Given the description of an element on the screen output the (x, y) to click on. 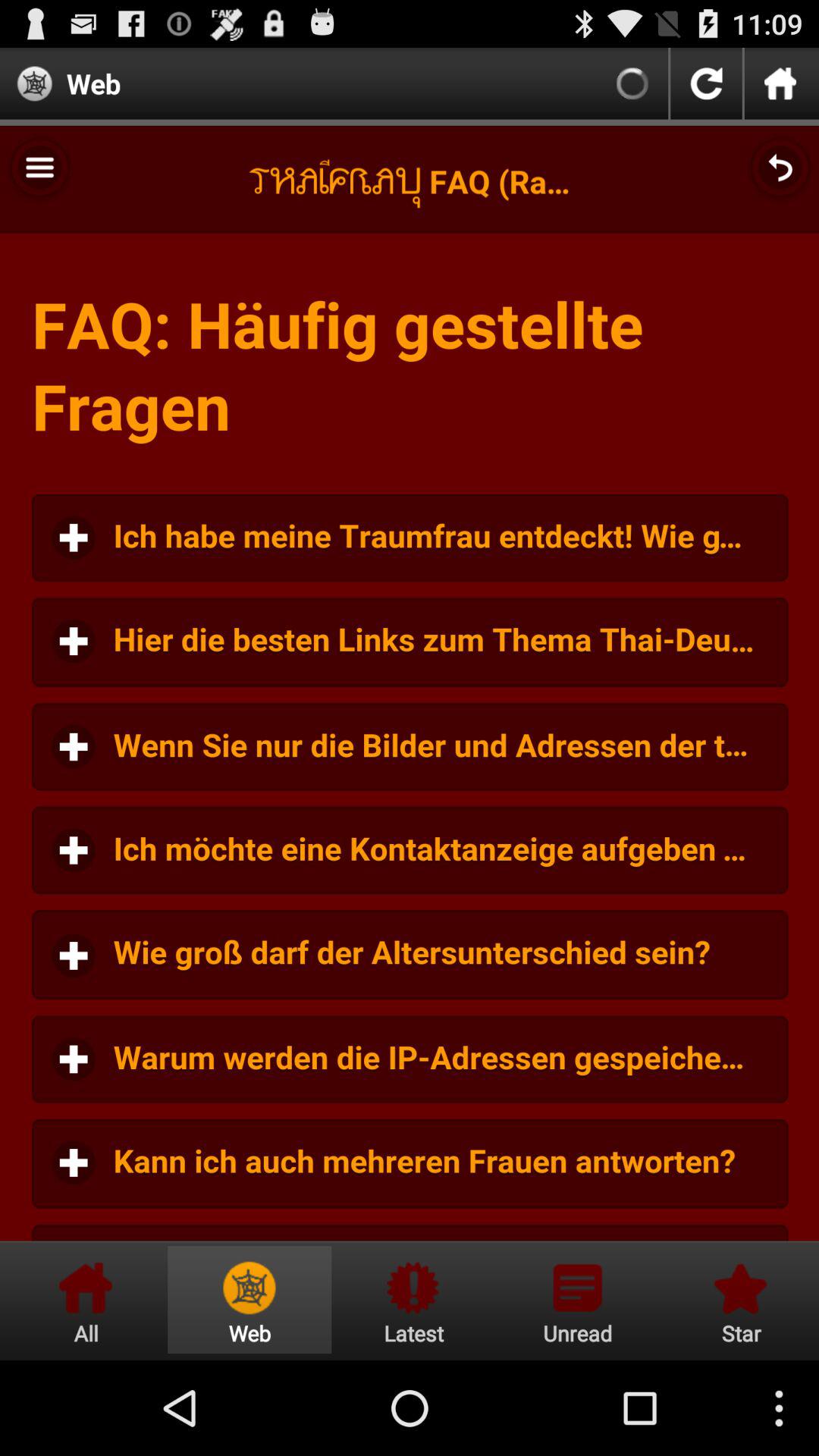
home option (85, 1299)
